Given the description of an element on the screen output the (x, y) to click on. 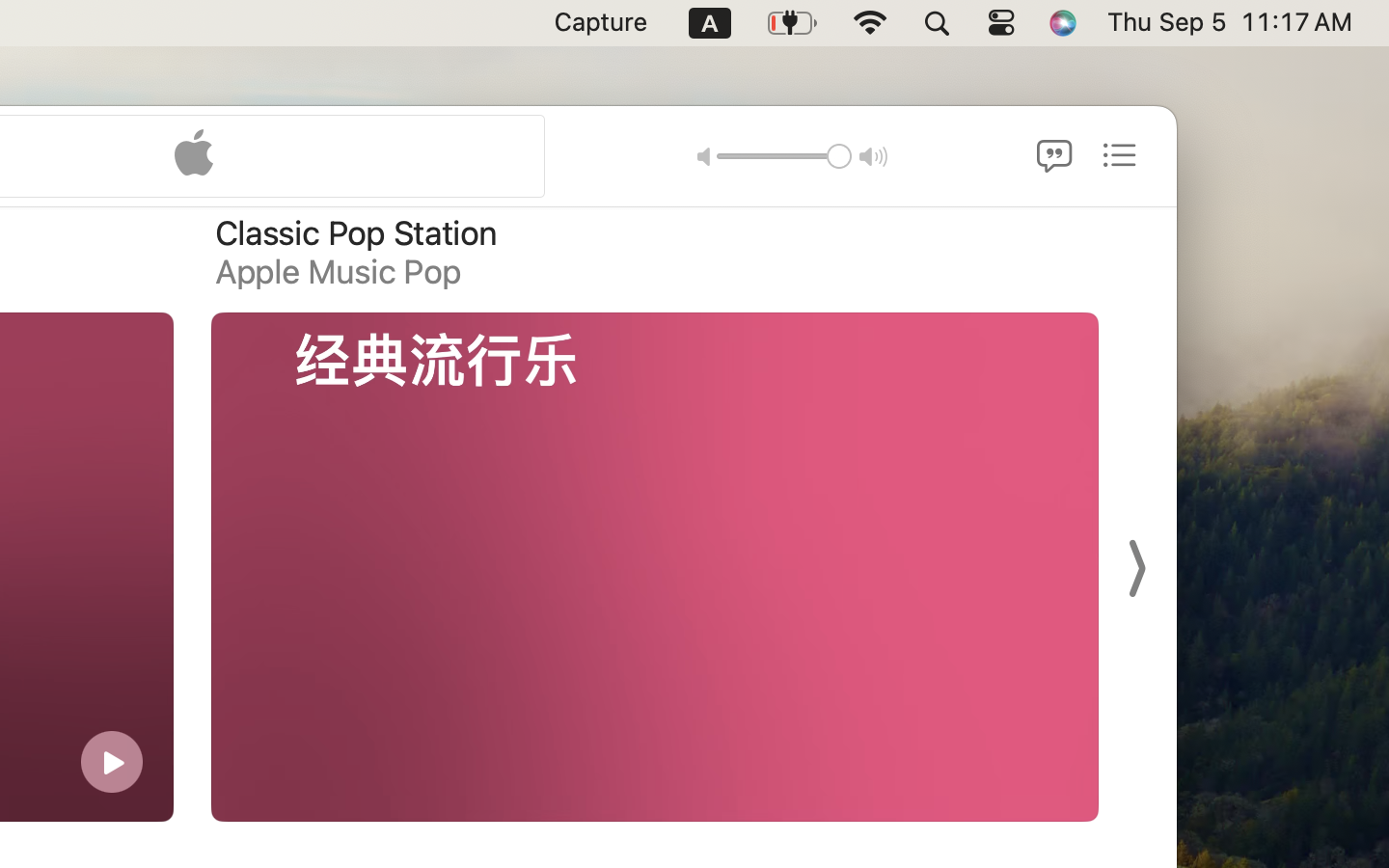
Apple Music Pop Element type: AXStaticText (337, 271)
Classic Pop Station Element type: AXStaticText (355, 233)
1.0 Element type: AXSlider (782, 155)
Spa Station Element type: AXStaticText (1224, 233)
